Given the description of an element on the screen output the (x, y) to click on. 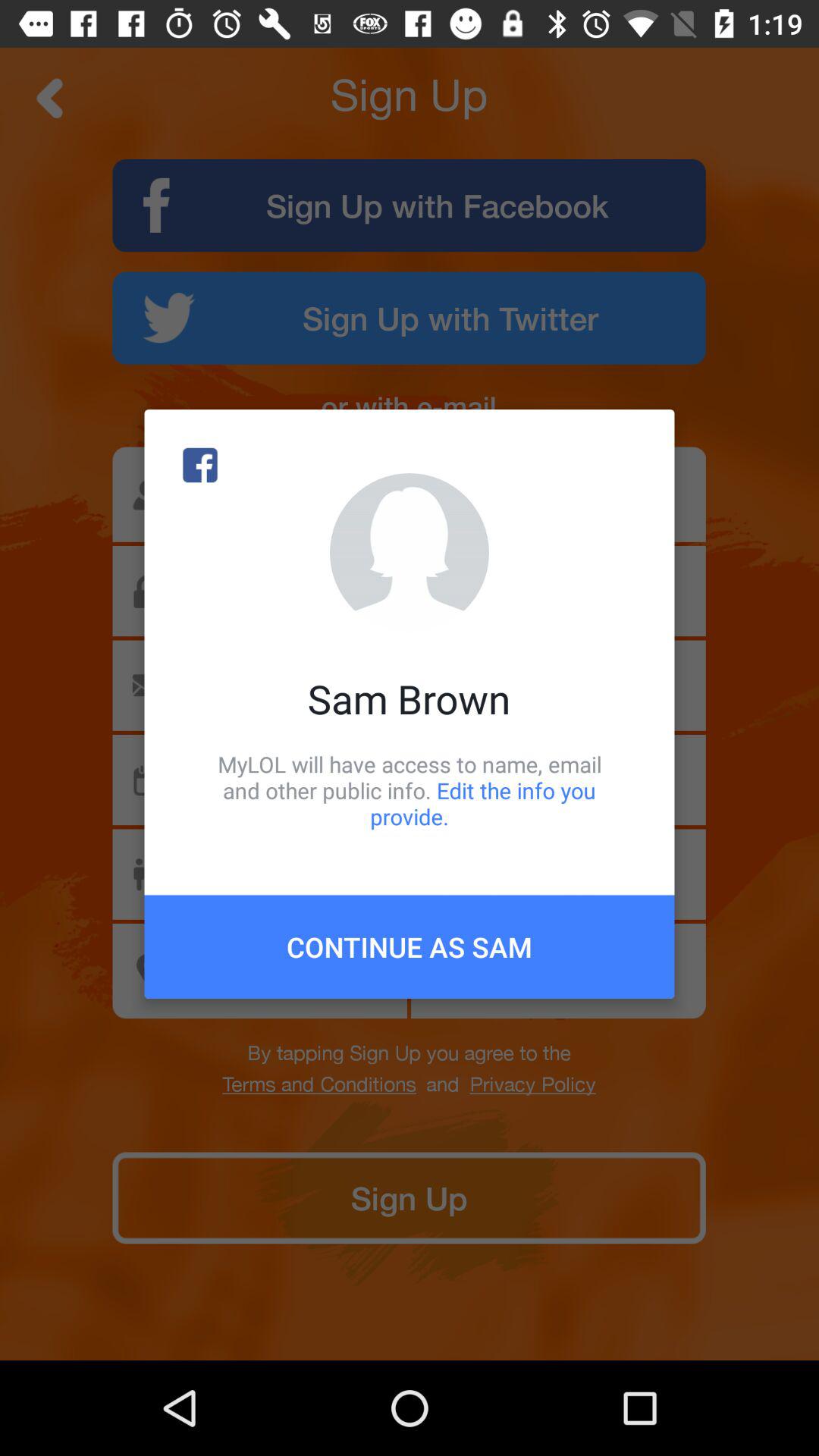
jump until the mylol will have icon (409, 790)
